Given the description of an element on the screen output the (x, y) to click on. 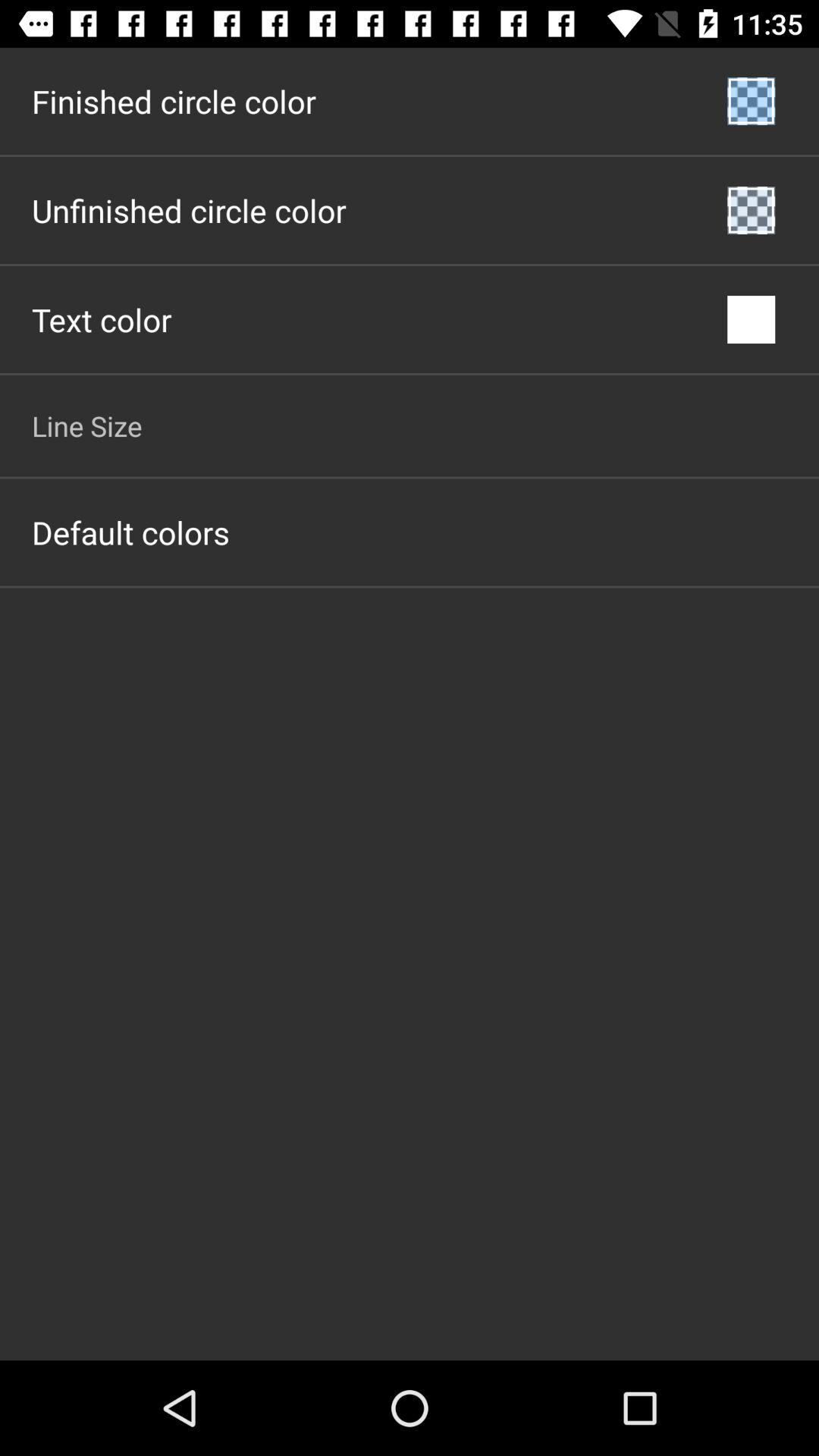
tap the icon to the right of finished circle color app (751, 101)
